Given the description of an element on the screen output the (x, y) to click on. 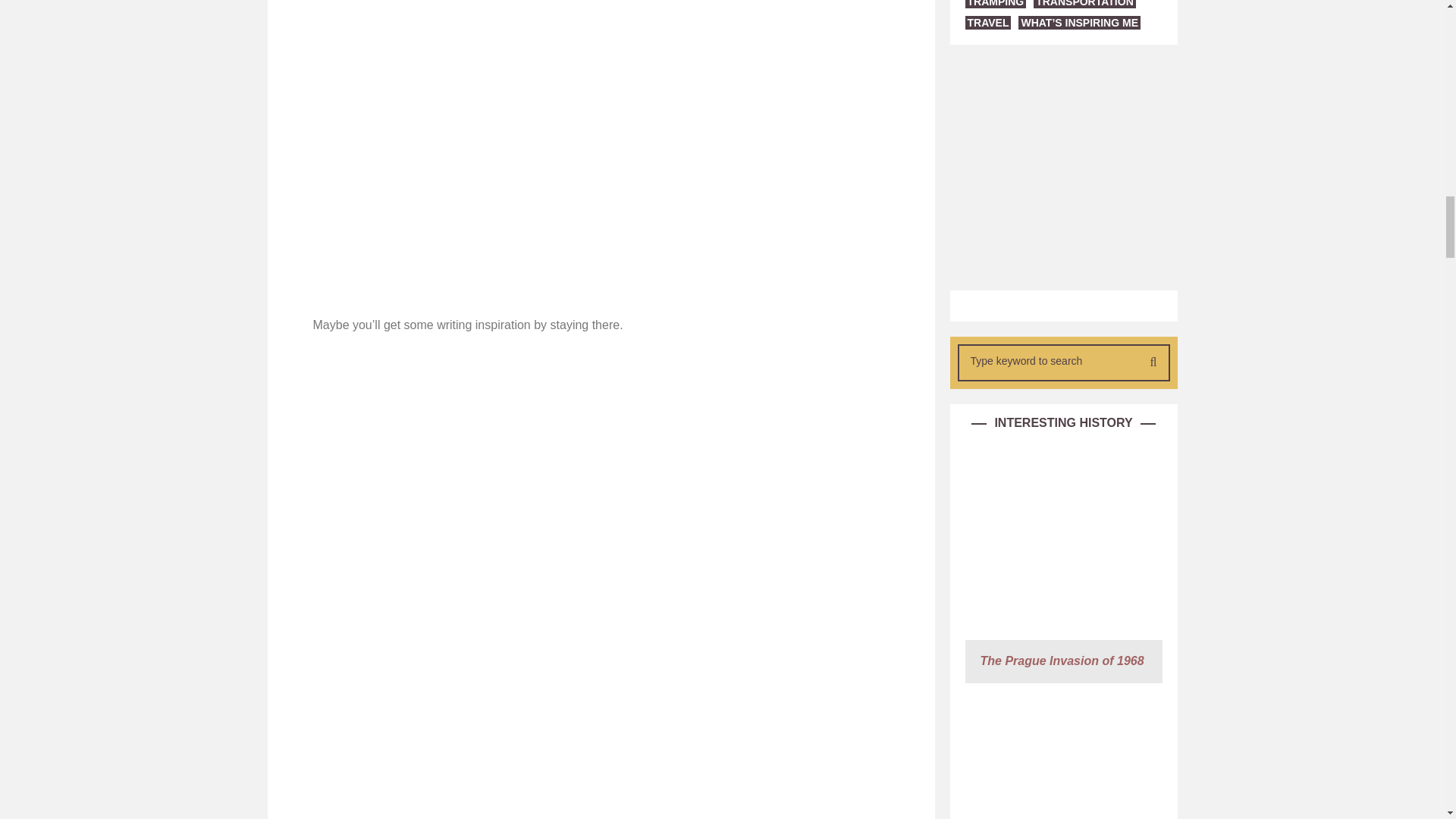
Type keyword to search (1049, 360)
Type keyword to search (1049, 360)
